Given the description of an element on the screen output the (x, y) to click on. 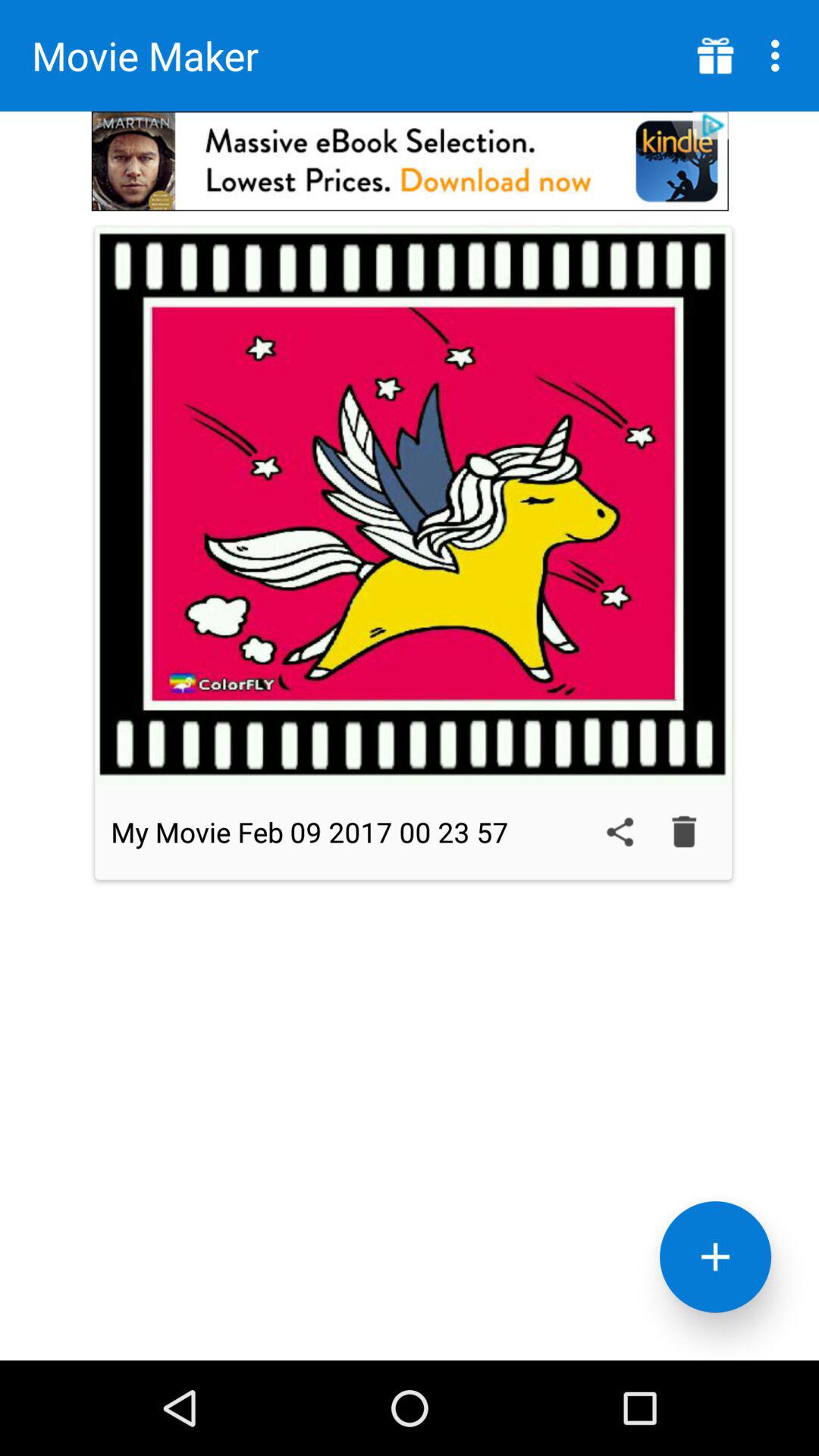
share (620, 831)
